Given the description of an element on the screen output the (x, y) to click on. 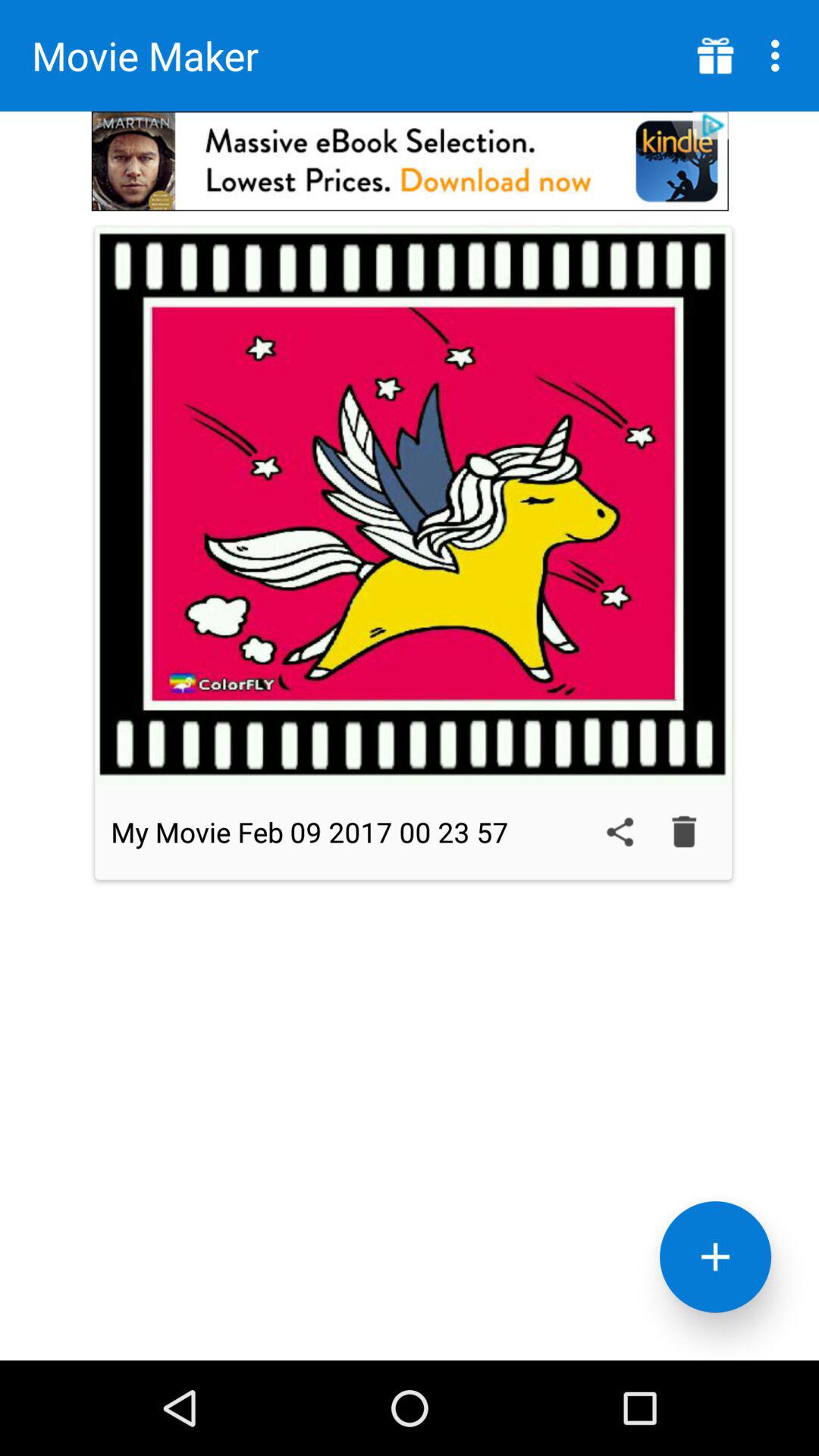
share (620, 831)
